Given the description of an element on the screen output the (x, y) to click on. 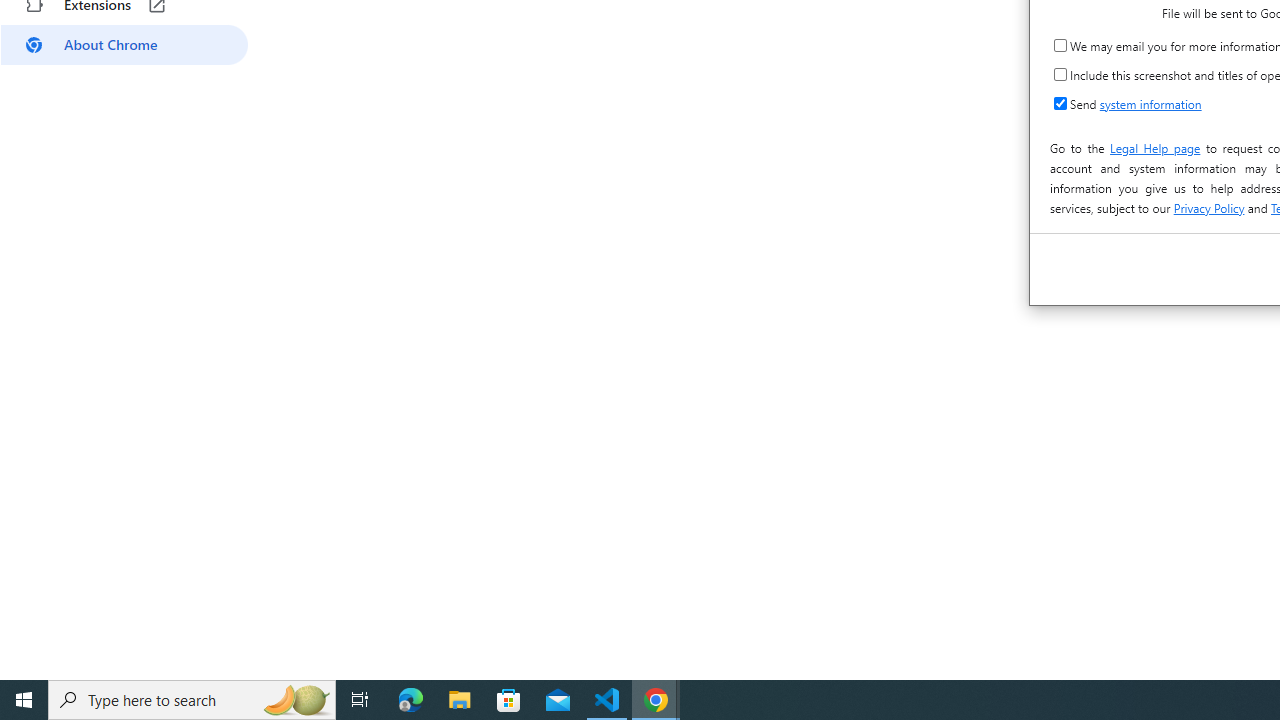
We may email you for more information or updates (1060, 44)
File Explorer (460, 699)
Google Chrome - 2 running windows (656, 699)
Search highlights icon opens search home window (295, 699)
Microsoft Store (509, 699)
Type here to search (191, 699)
system information (1150, 103)
Task View (359, 699)
Start (24, 699)
Microsoft Edge (411, 699)
Send system information (1060, 103)
Include this screenshot and titles of open tabs (1060, 73)
